Given the description of an element on the screen output the (x, y) to click on. 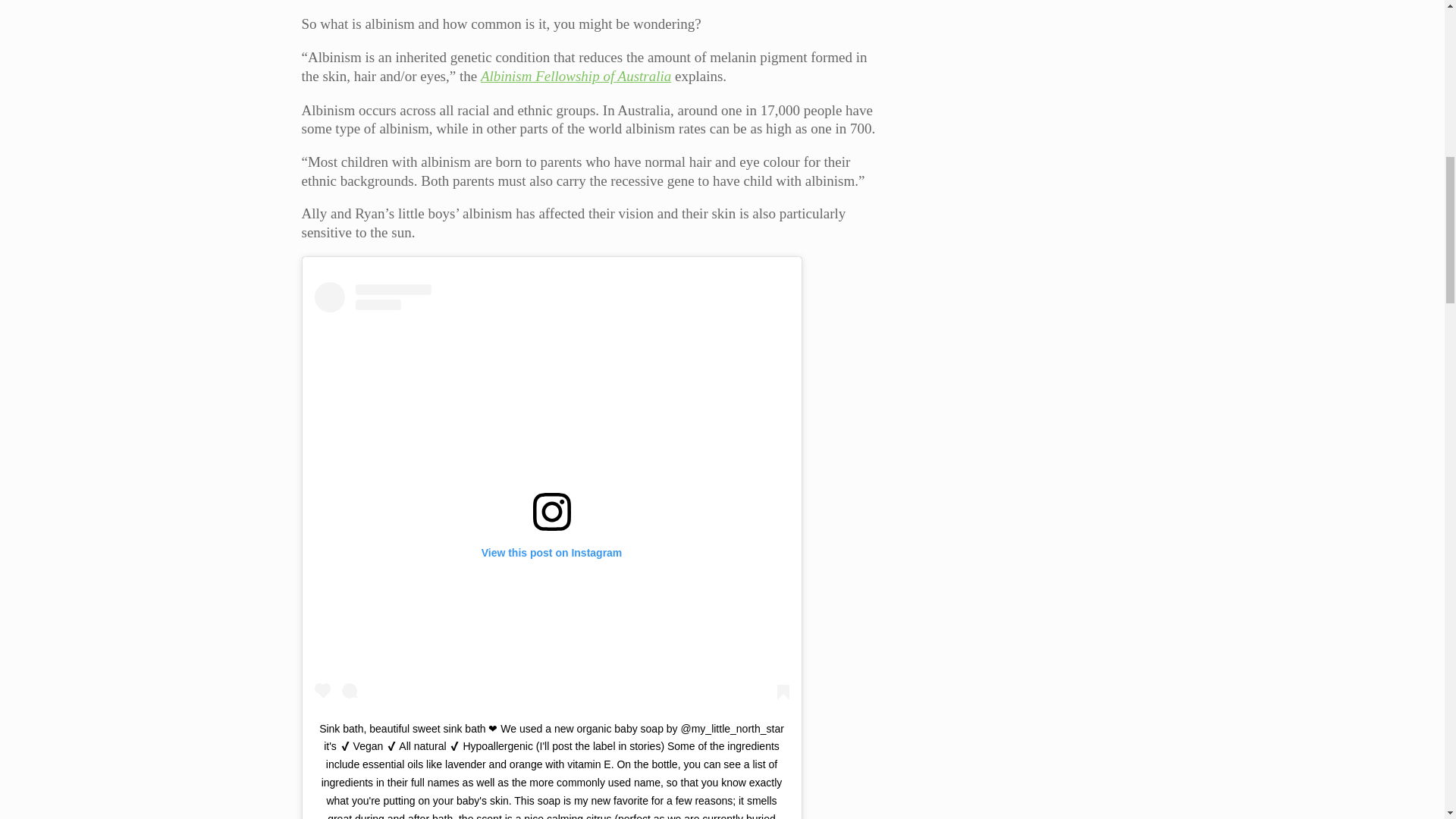
Albinism Fellowship of Australia (575, 75)
